Given the description of an element on the screen output the (x, y) to click on. 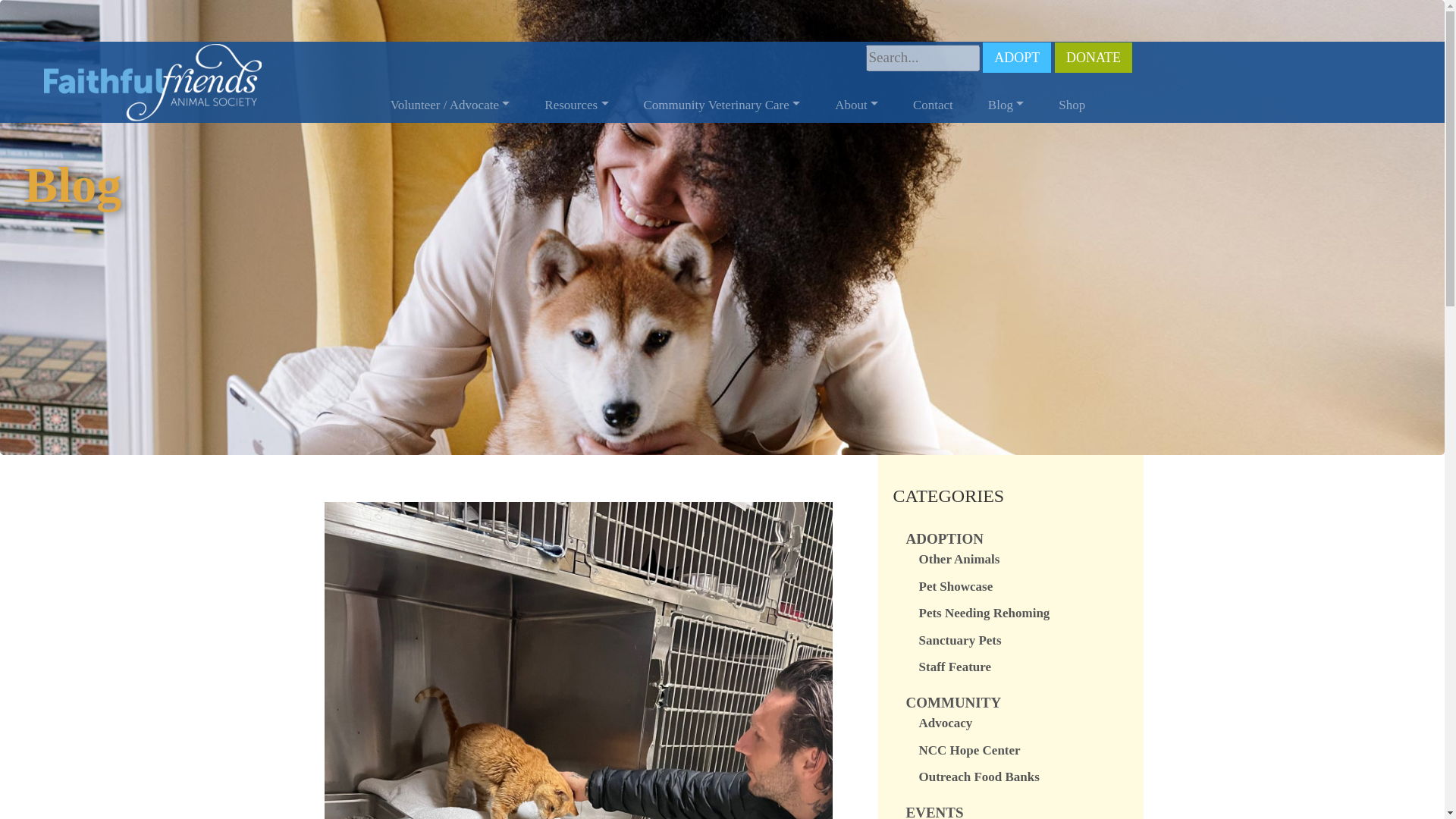
Resources (576, 105)
ADOPT (1016, 57)
Resources (576, 105)
Community Veterinary Care (721, 105)
About (855, 105)
DONATE (1093, 57)
Contact (933, 105)
Blog (1005, 105)
Shop (1071, 105)
Community Veterinary Care (721, 105)
